Given the description of an element on the screen output the (x, y) to click on. 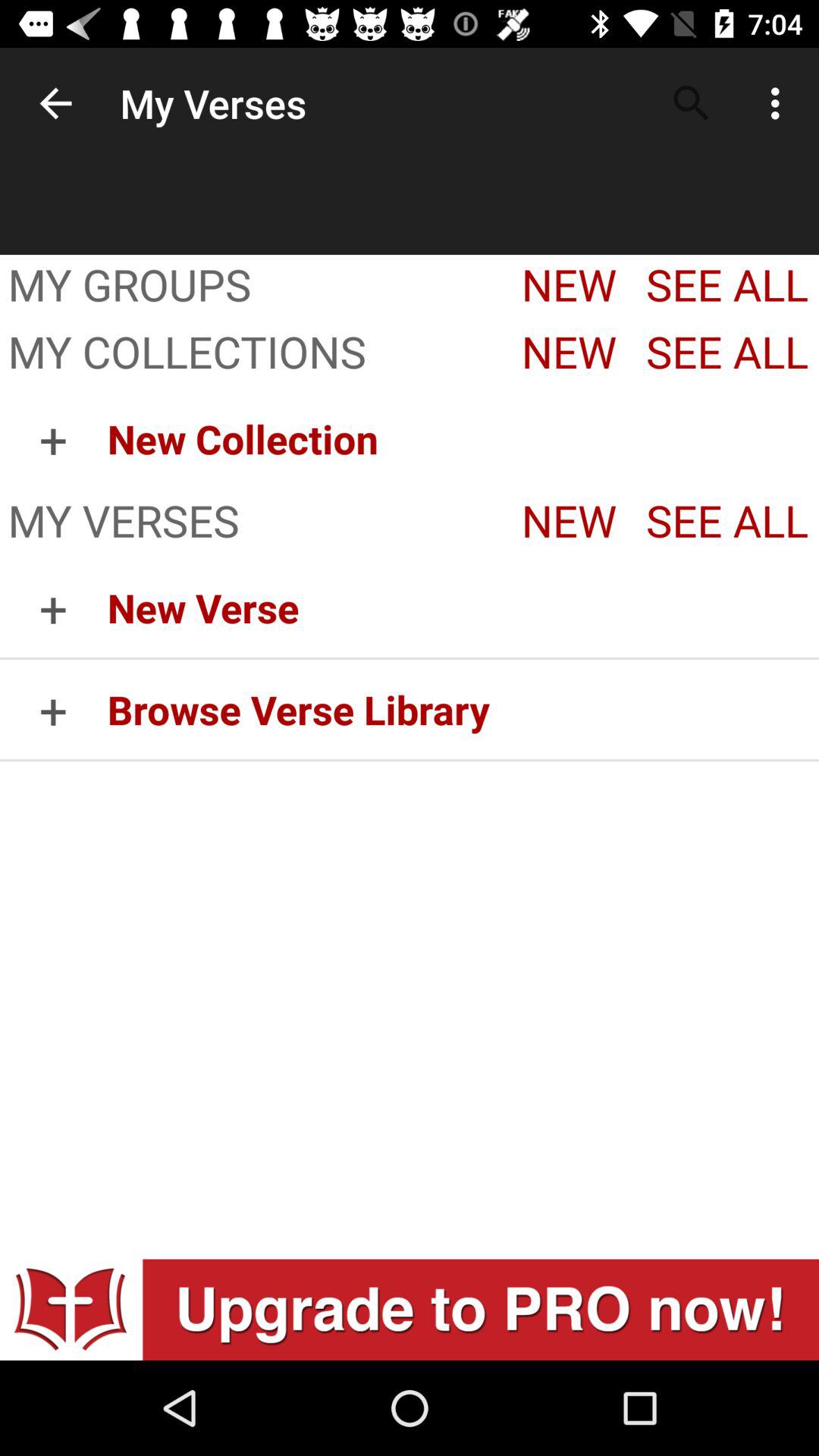
click app below my collections item (53, 438)
